Given the description of an element on the screen output the (x, y) to click on. 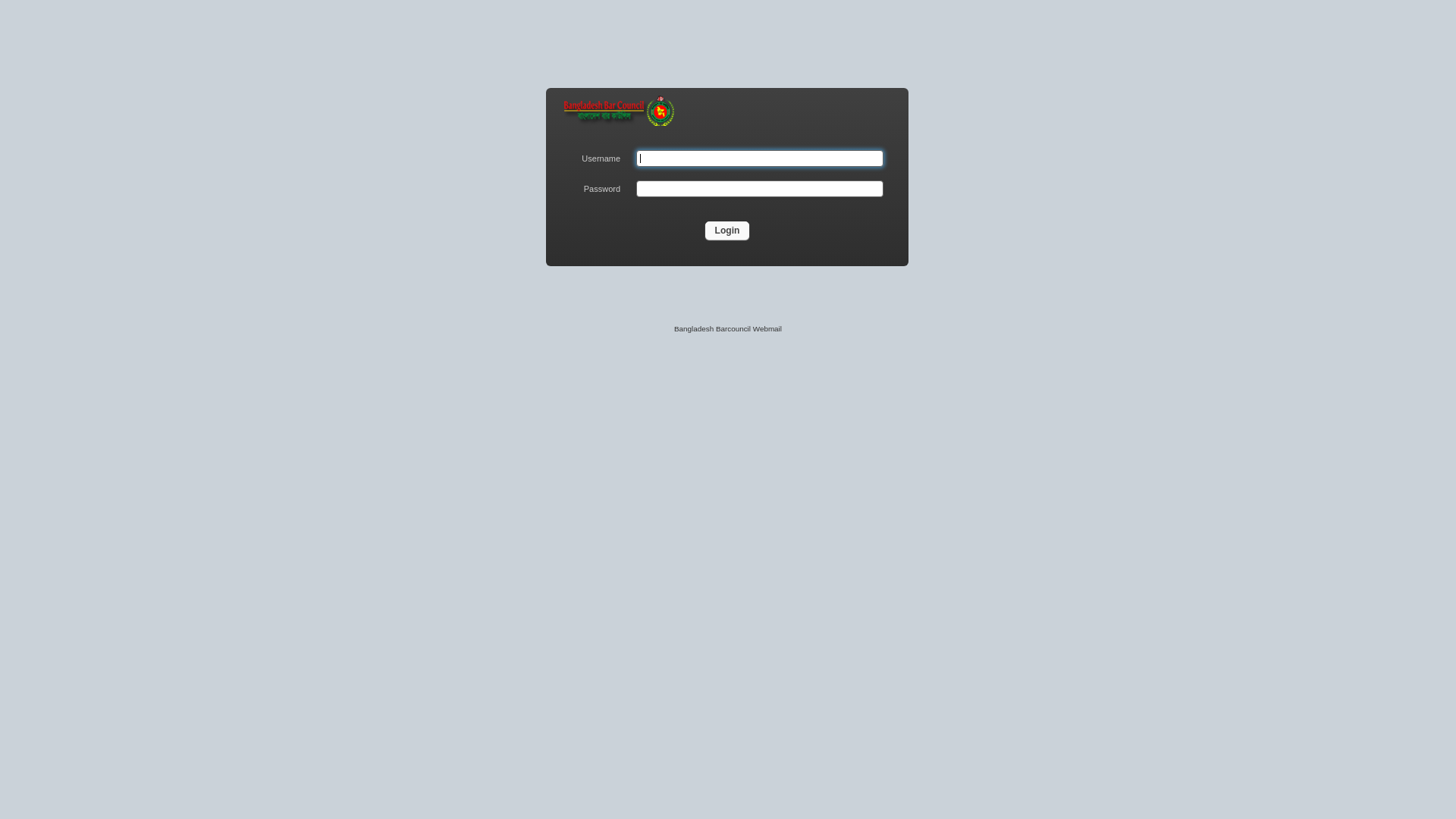
Login Element type: text (727, 230)
